Given the description of an element on the screen output the (x, y) to click on. 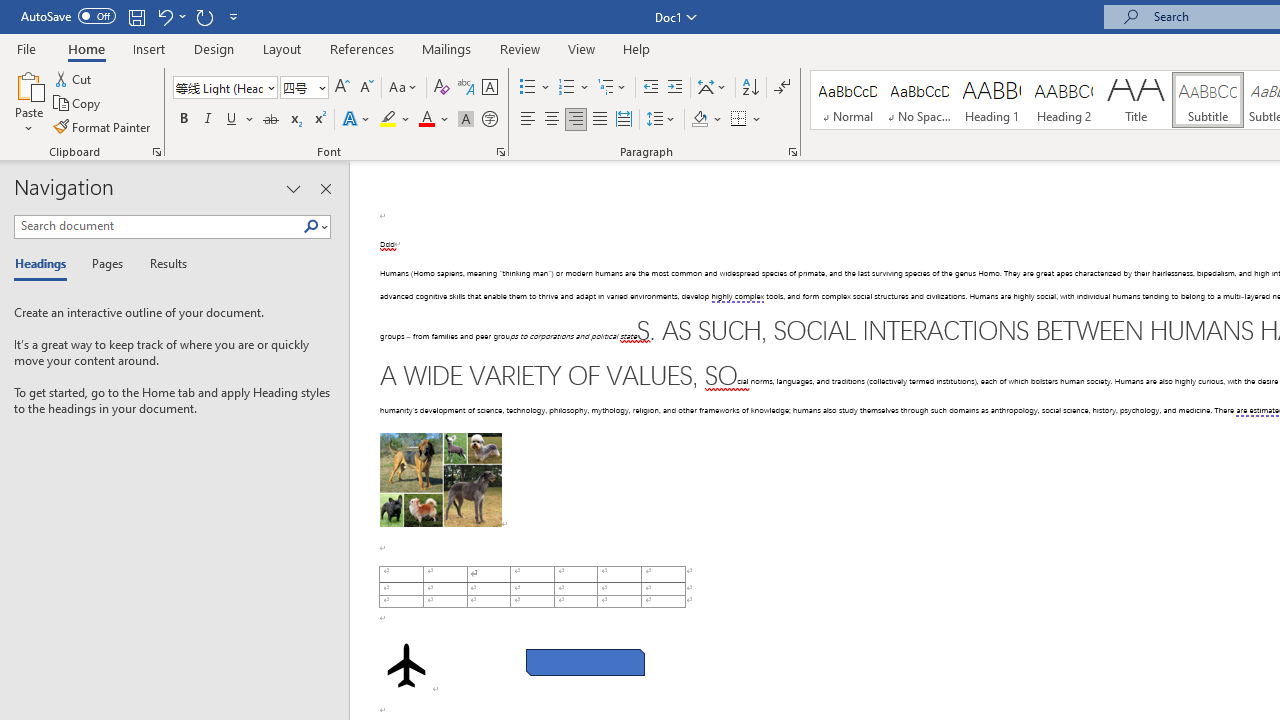
Morphological variation in six dogs (440, 479)
Align Right (575, 119)
Shading (706, 119)
Borders (739, 119)
Increase Indent (675, 87)
Quick Access Toolbar (131, 16)
Borders (746, 119)
Distributed (623, 119)
Superscript (319, 119)
Open (320, 87)
Character Border (489, 87)
Change Case (404, 87)
Heading 2 (1063, 100)
Font Size (297, 87)
Bullets (535, 87)
